Given the description of an element on the screen output the (x, y) to click on. 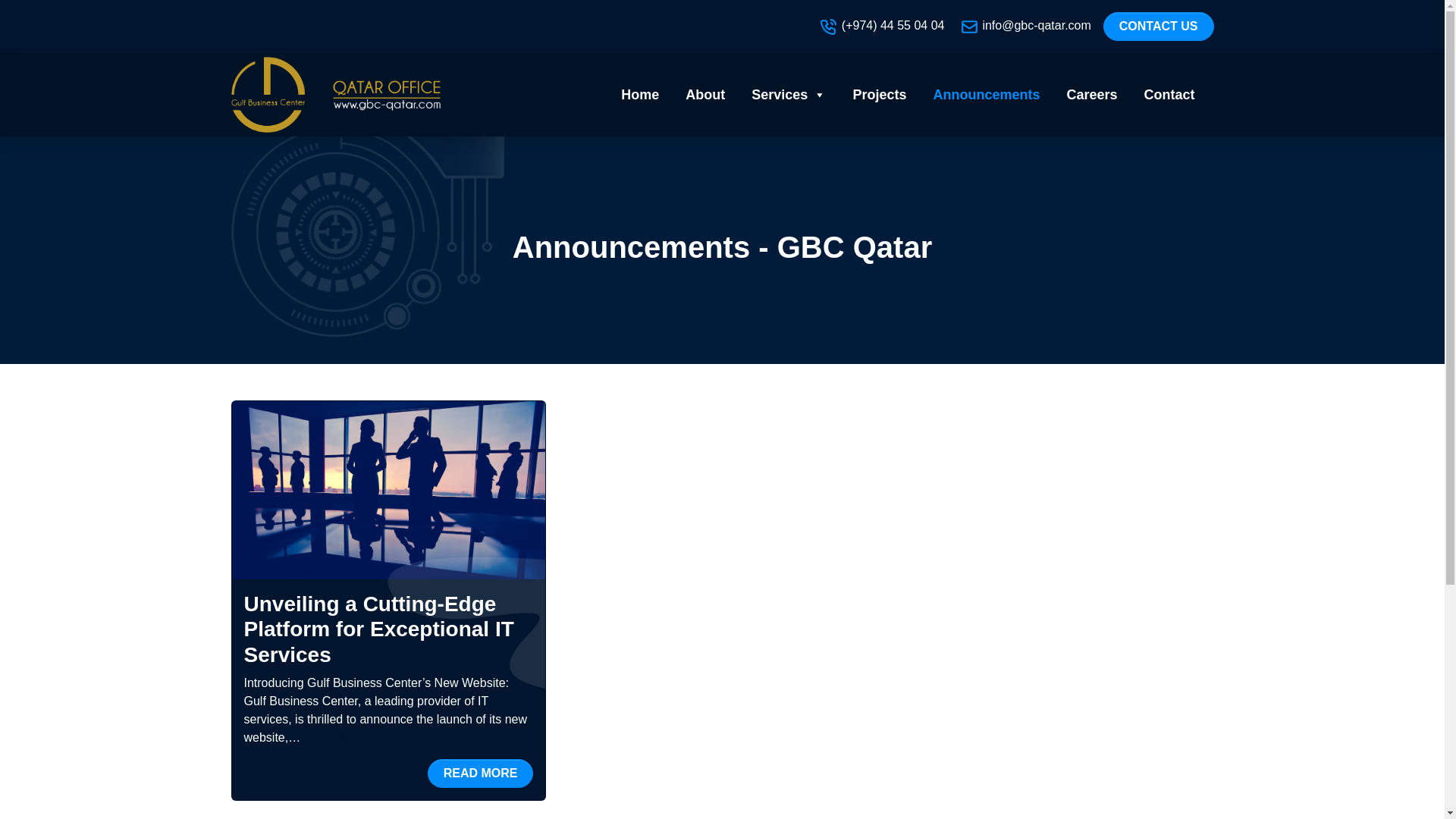
Announcements (985, 94)
READ MORE (481, 772)
Services (788, 94)
Read More (334, 737)
Contact (1168, 94)
Projects (879, 94)
Home (639, 94)
About (705, 94)
Careers (1091, 94)
CONTACT US (1158, 26)
